Given the description of an element on the screen output the (x, y) to click on. 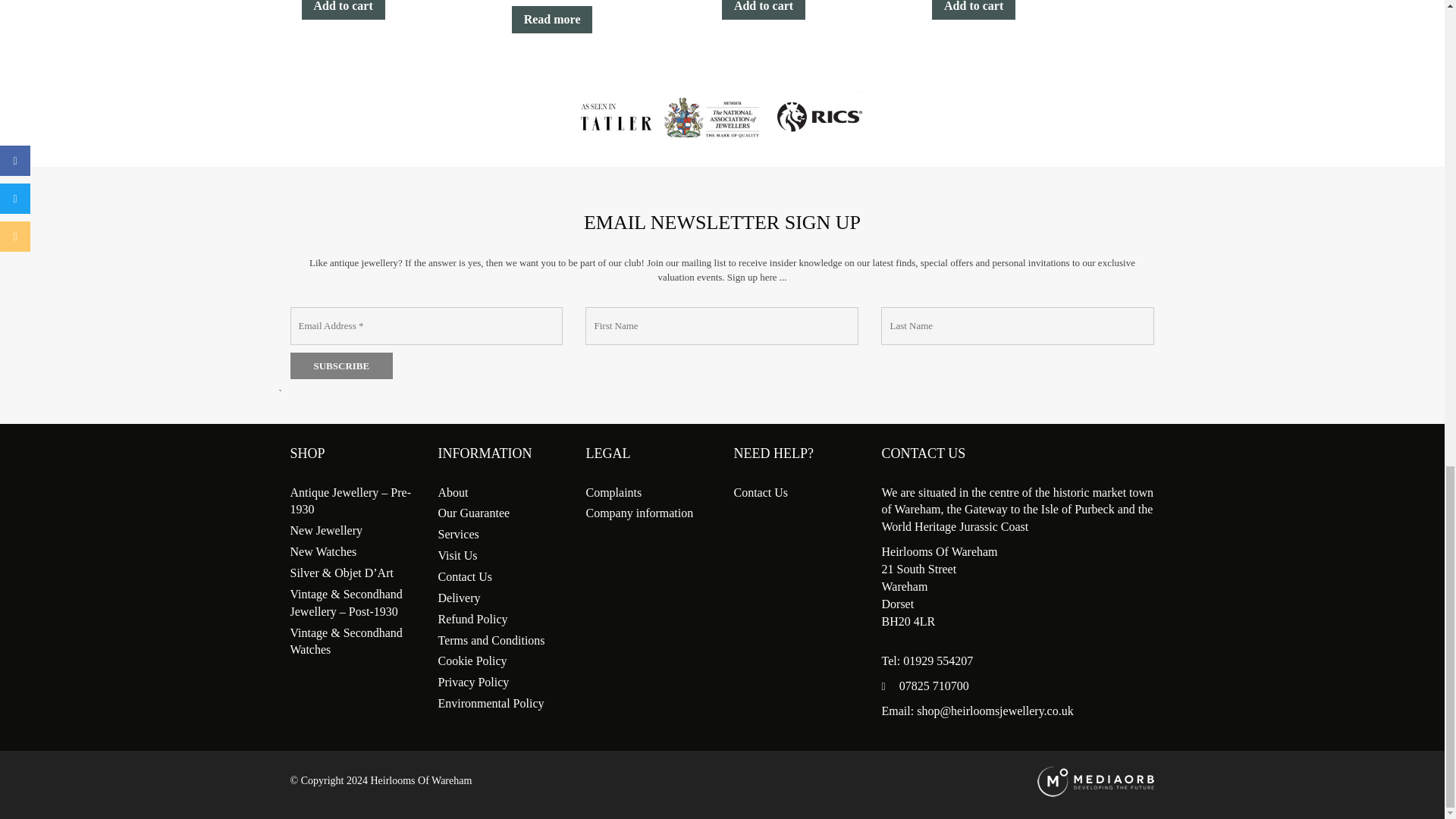
Read more (552, 19)
Add to cart (763, 9)
Add to cart (343, 9)
Subscribe (341, 365)
